Given the description of an element on the screen output the (x, y) to click on. 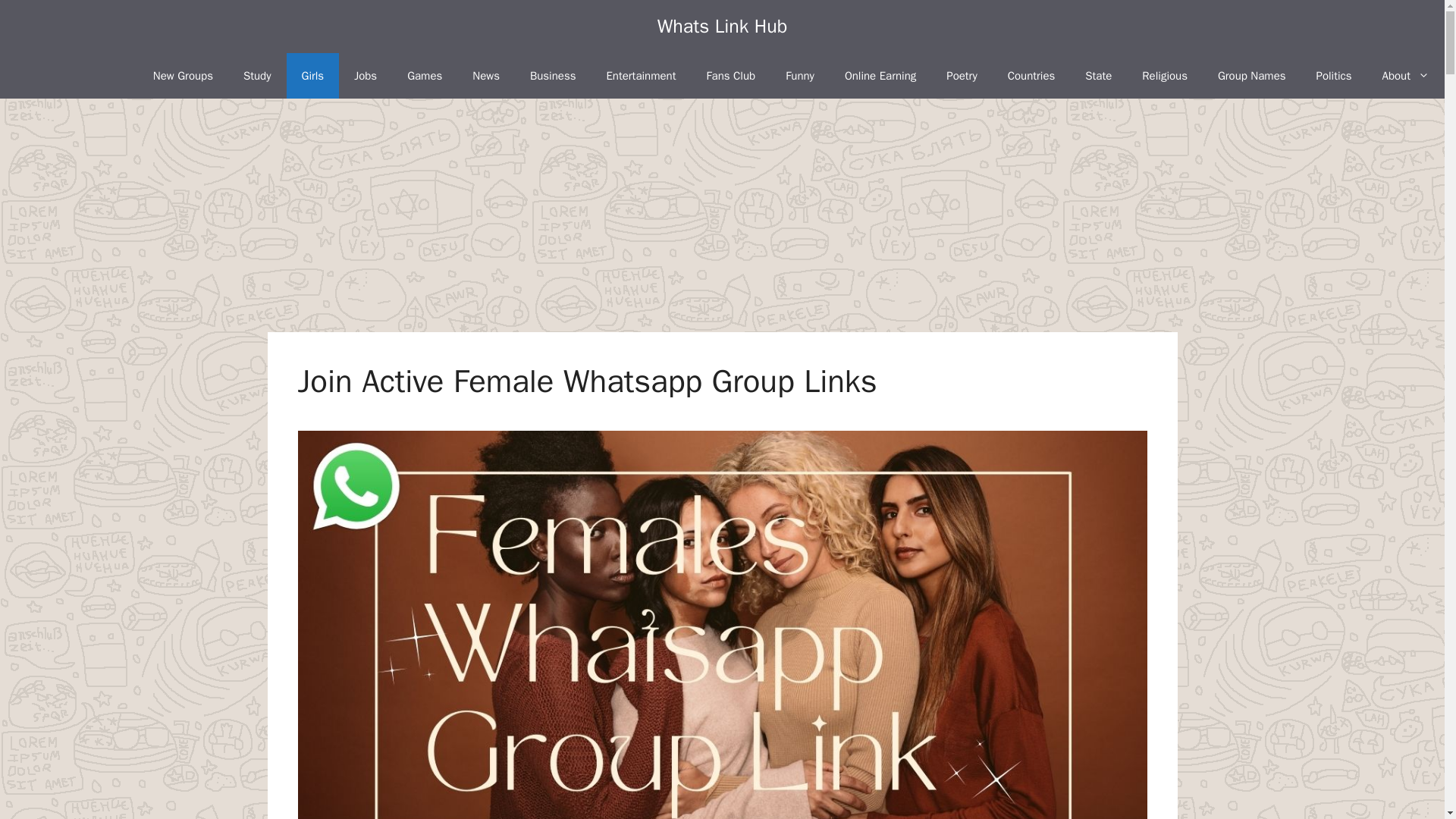
Religious (1164, 75)
Countries (1031, 75)
Fans Club (730, 75)
Group Names (1251, 75)
Entertainment (640, 75)
New Groups (183, 75)
Study (257, 75)
Online Earning (880, 75)
Whats Link Hub (722, 25)
Politics (1334, 75)
State (1098, 75)
Funny (799, 75)
Girls (312, 75)
Poetry (961, 75)
Games (424, 75)
